Given the description of an element on the screen output the (x, y) to click on. 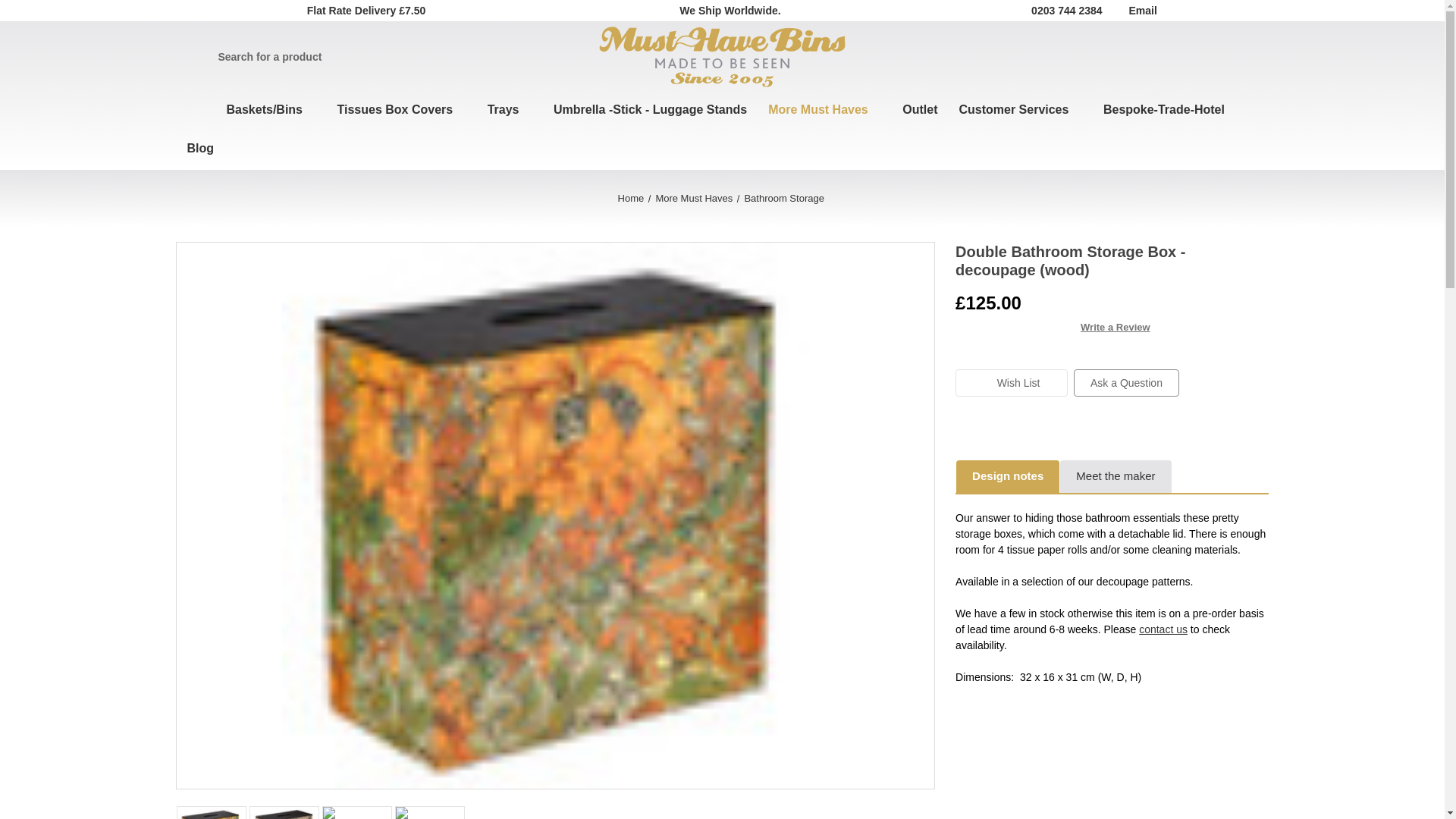
Tissues Box Covers (401, 111)
Bathroom Storage Set - Orange Morris Vine (430, 812)
Trays (510, 111)
Must-Have Bins (721, 56)
contact us (1163, 629)
Search for a product (382, 56)
